Given the description of an element on the screen output the (x, y) to click on. 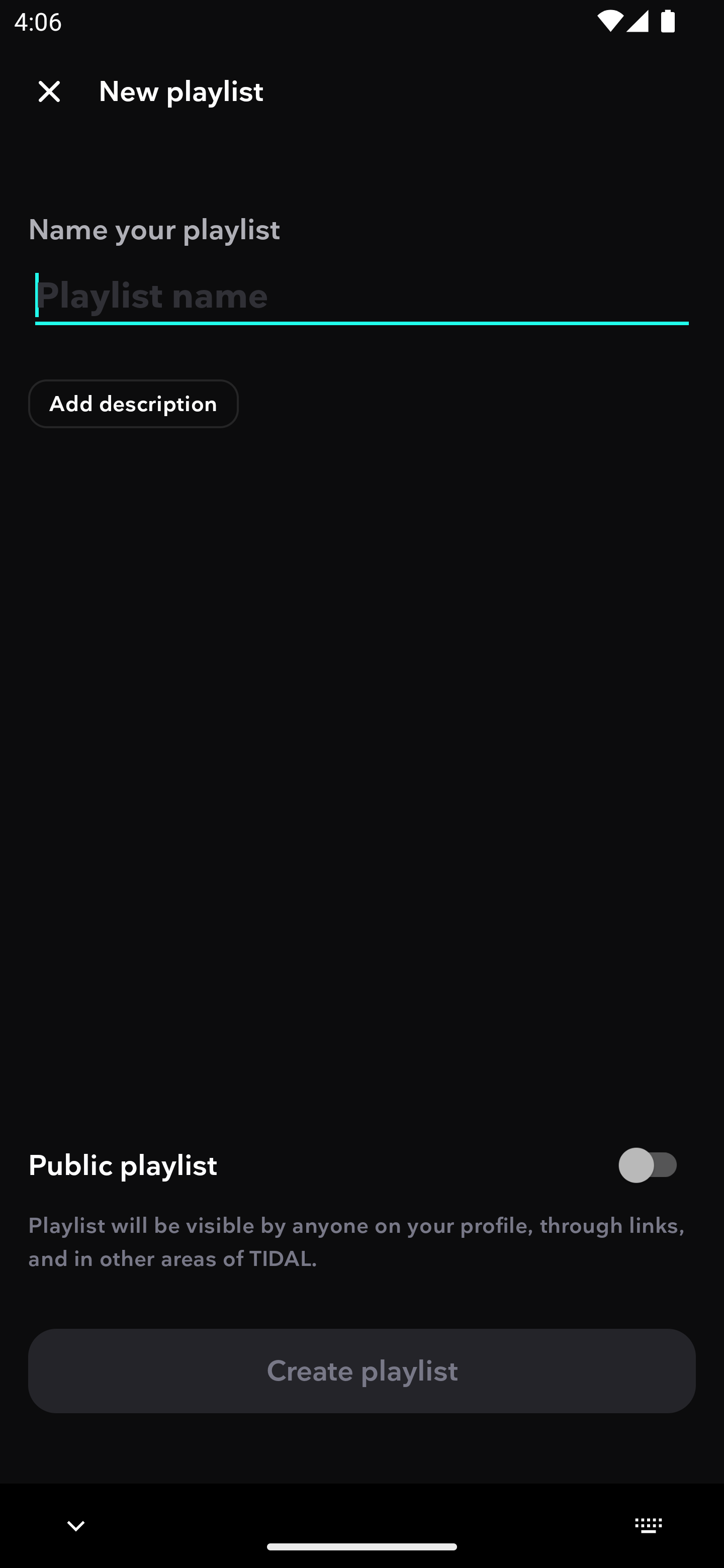
Back (49, 91)
Playlist name (361, 295)
Add description (133, 403)
Create playlist (361, 1370)
